Given the description of an element on the screen output the (x, y) to click on. 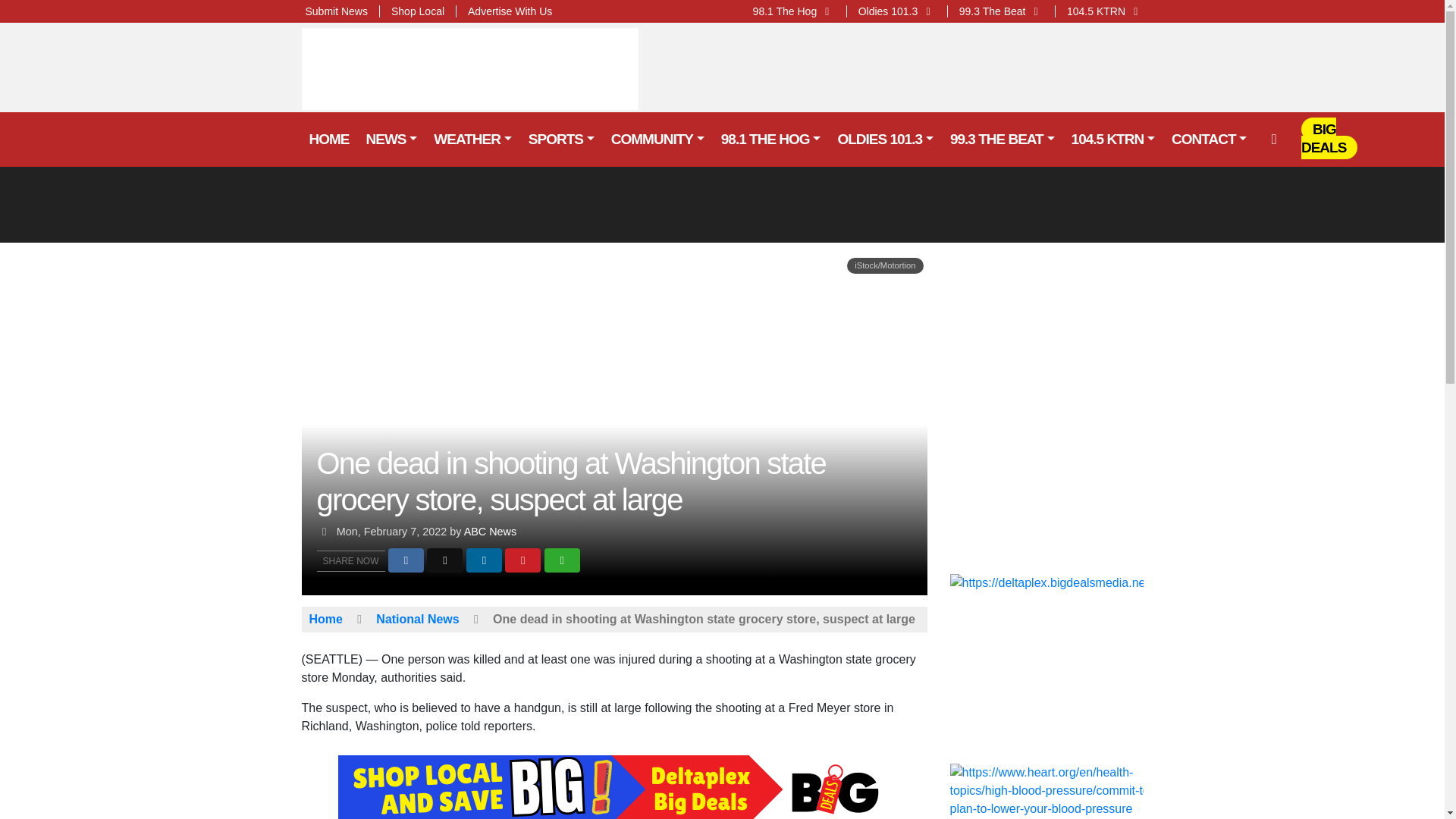
Share to LinkedIn (483, 559)
Share to X (444, 559)
Posts by ABC News (490, 531)
Share to Pinterest (522, 559)
Share to Facebook (405, 559)
